Given the description of an element on the screen output the (x, y) to click on. 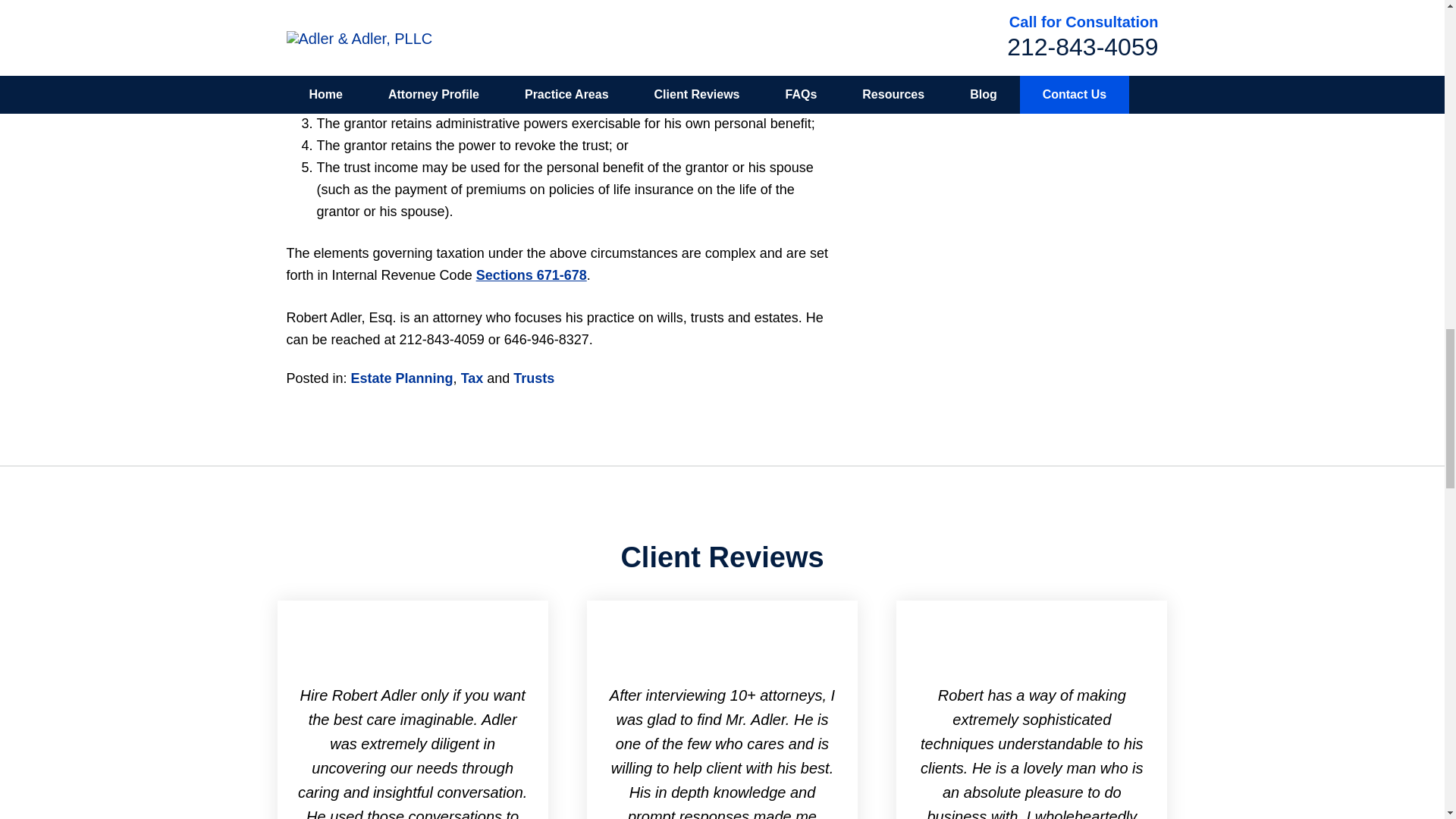
Estate Planning (401, 378)
Sections 671-678 (531, 274)
Tax (472, 378)
Client Reviews (722, 557)
Trusts (533, 378)
